Given the description of an element on the screen output the (x, y) to click on. 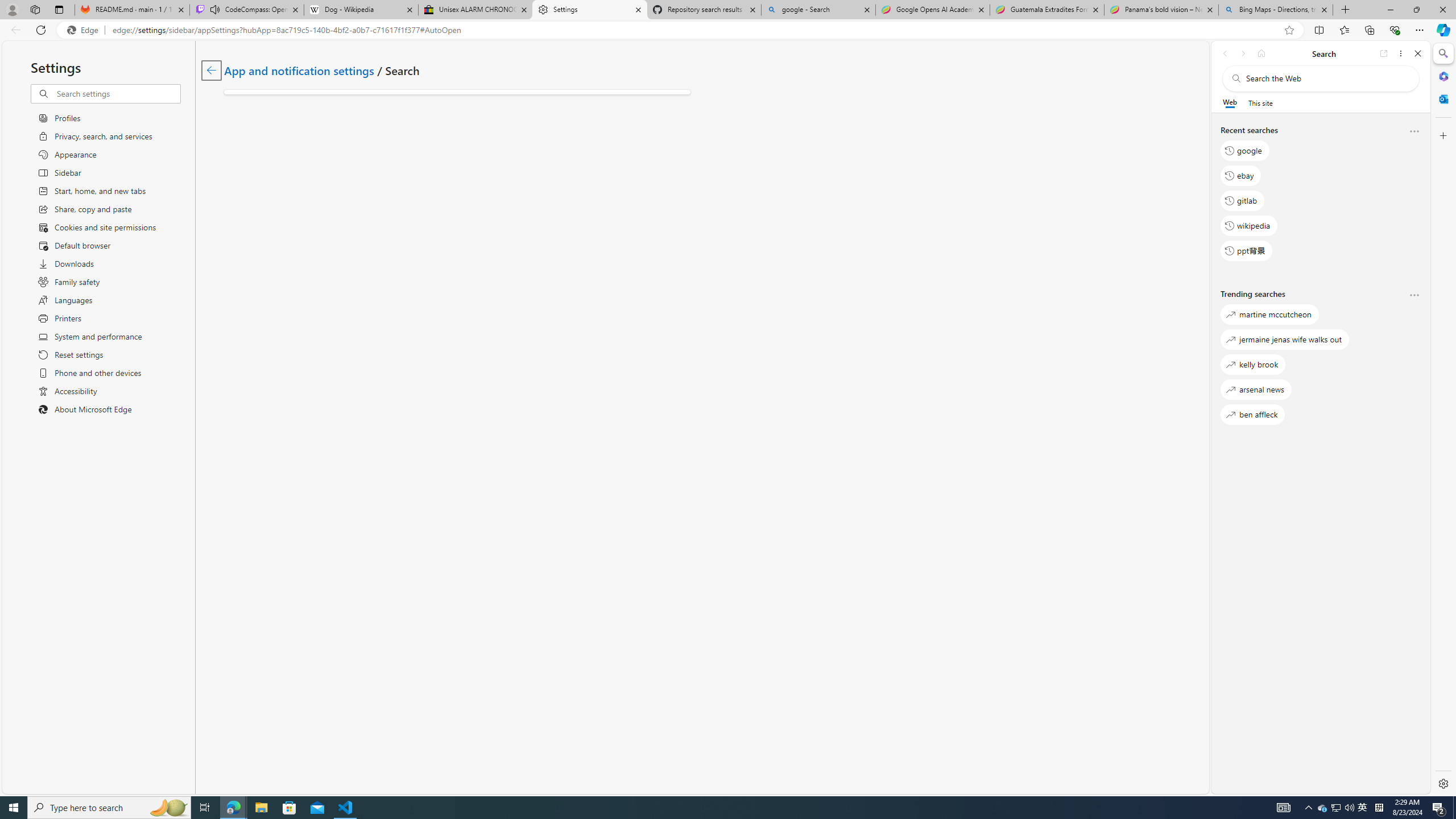
Go back to App and notification settings page. (210, 70)
App and notification settings (299, 69)
ebay (1240, 175)
